Given the description of an element on the screen output the (x, y) to click on. 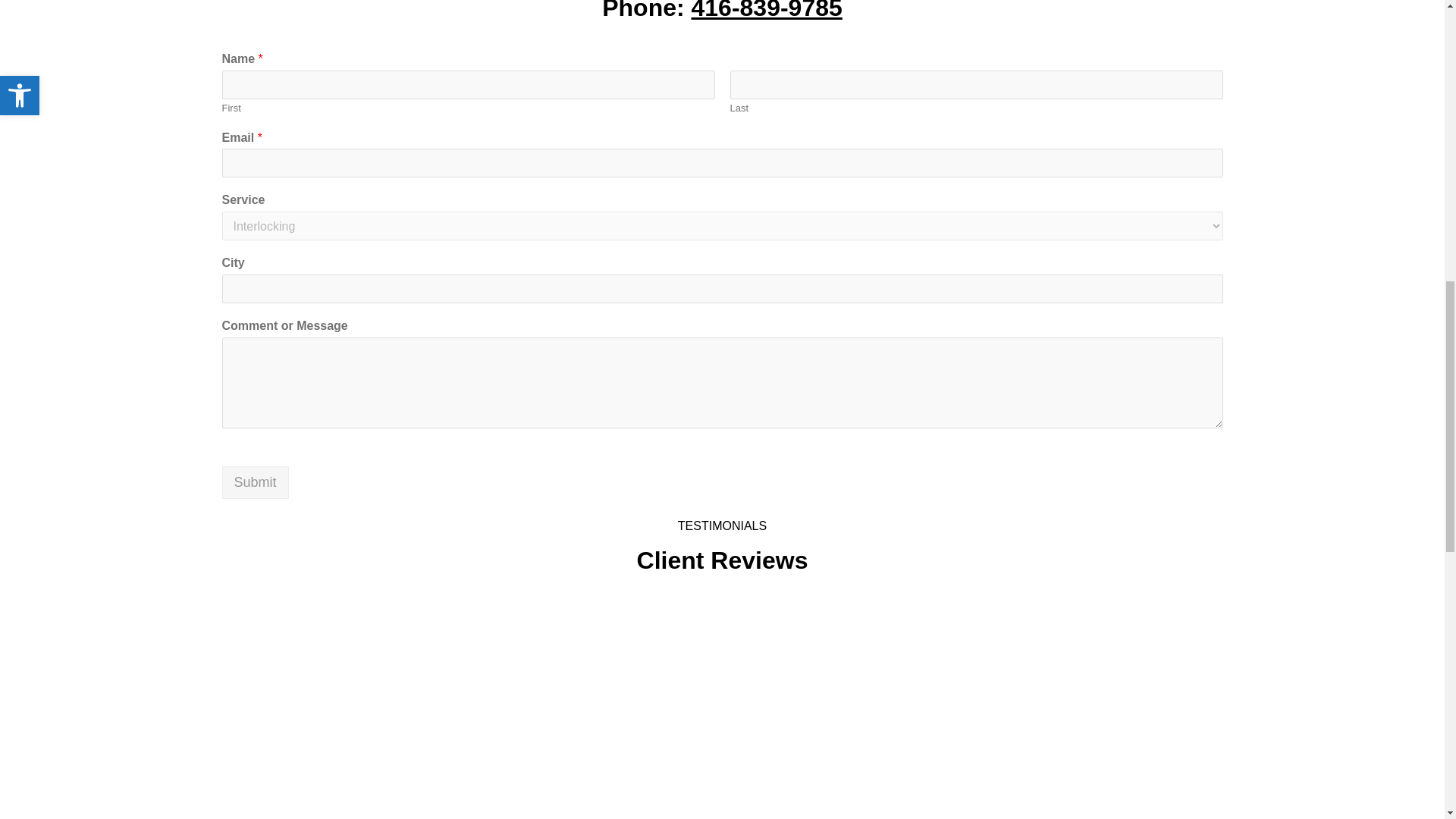
416-839-9785 (767, 12)
Submit (254, 482)
